Given the description of an element on the screen output the (x, y) to click on. 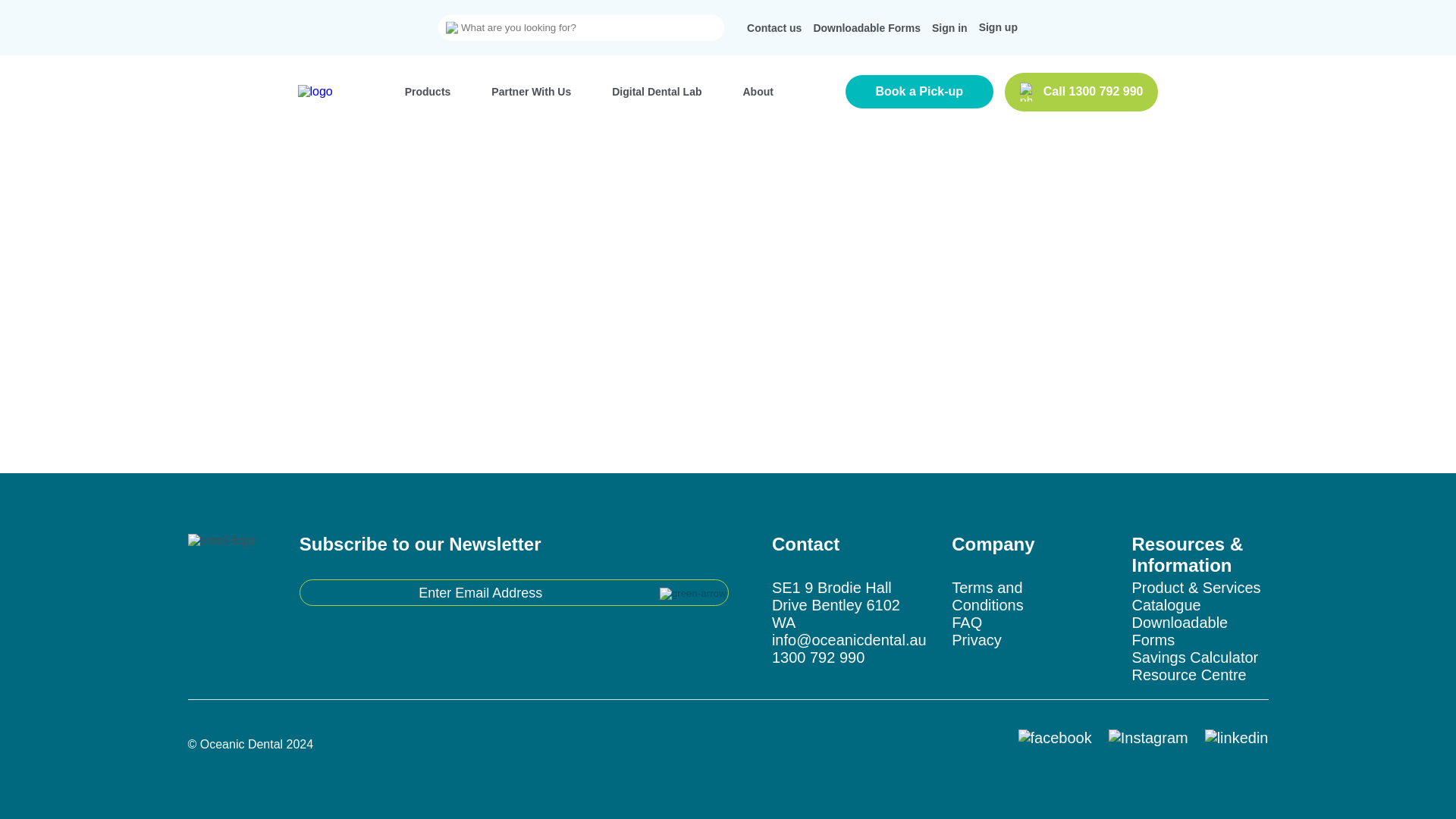
Downloadable Forms (866, 27)
Contact us (774, 27)
Sign up (997, 27)
Sign in (949, 27)
